Given the description of an element on the screen output the (x, y) to click on. 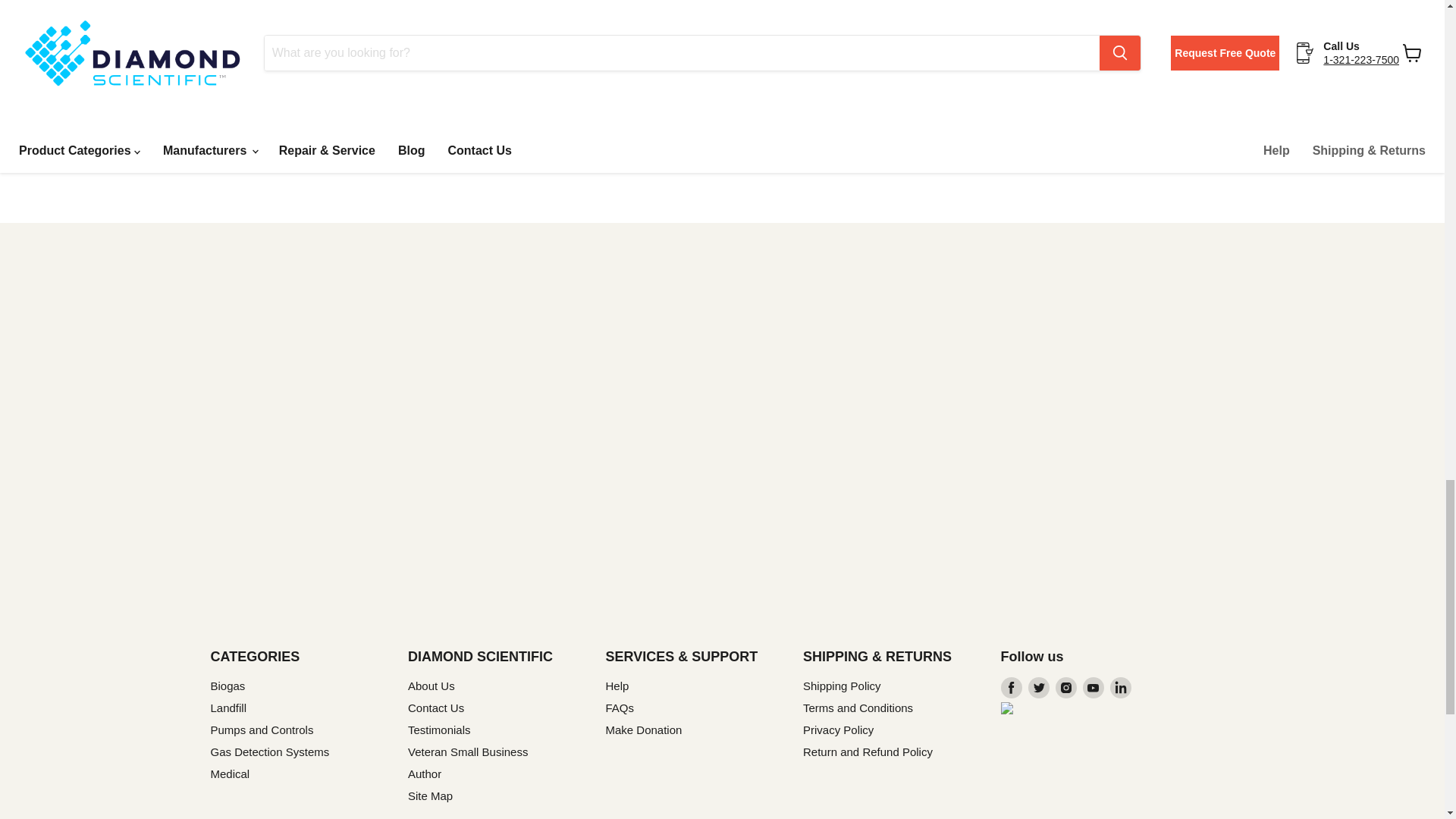
Facebook (1011, 687)
LinkedIn (1120, 687)
Instagram (1066, 687)
Youtube (1093, 687)
Twitter (1038, 687)
